Given the description of an element on the screen output the (x, y) to click on. 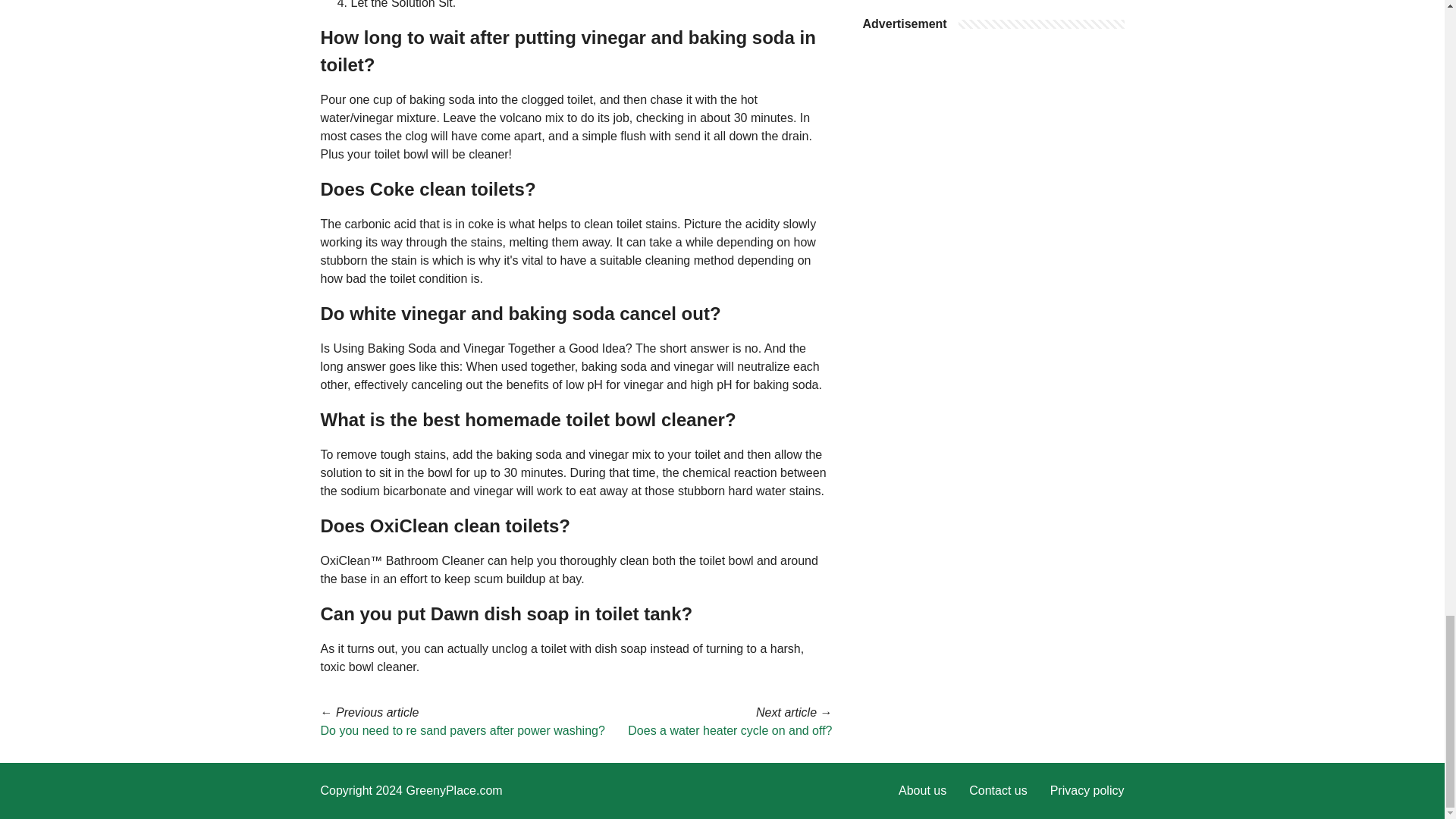
Do you need to re sand pavers after power washing? (462, 730)
Does a water heater cycle on and off? (729, 730)
